Given the description of an element on the screen output the (x, y) to click on. 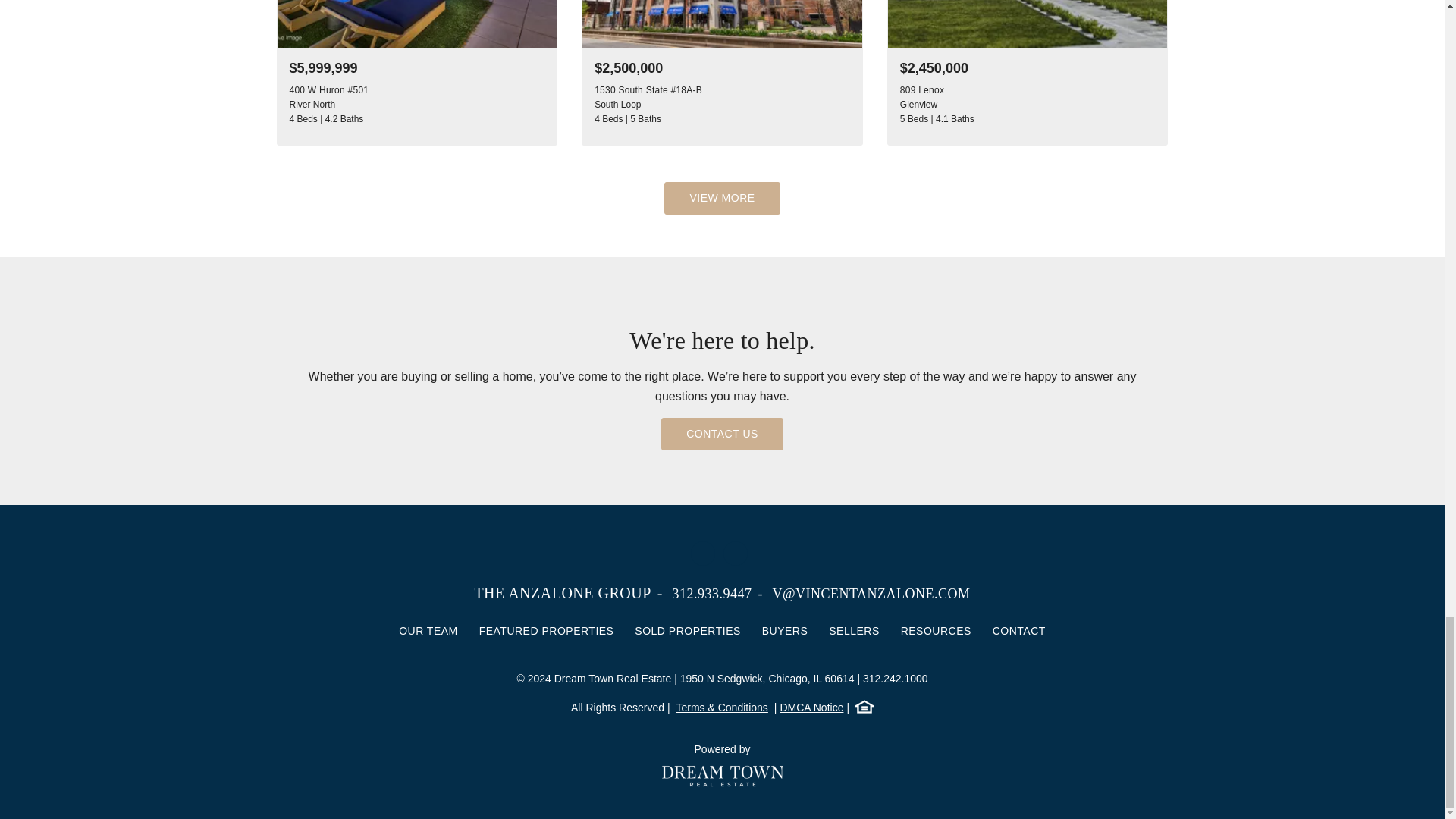
Dream Town Real Estate (722, 775)
